Given the description of an element on the screen output the (x, y) to click on. 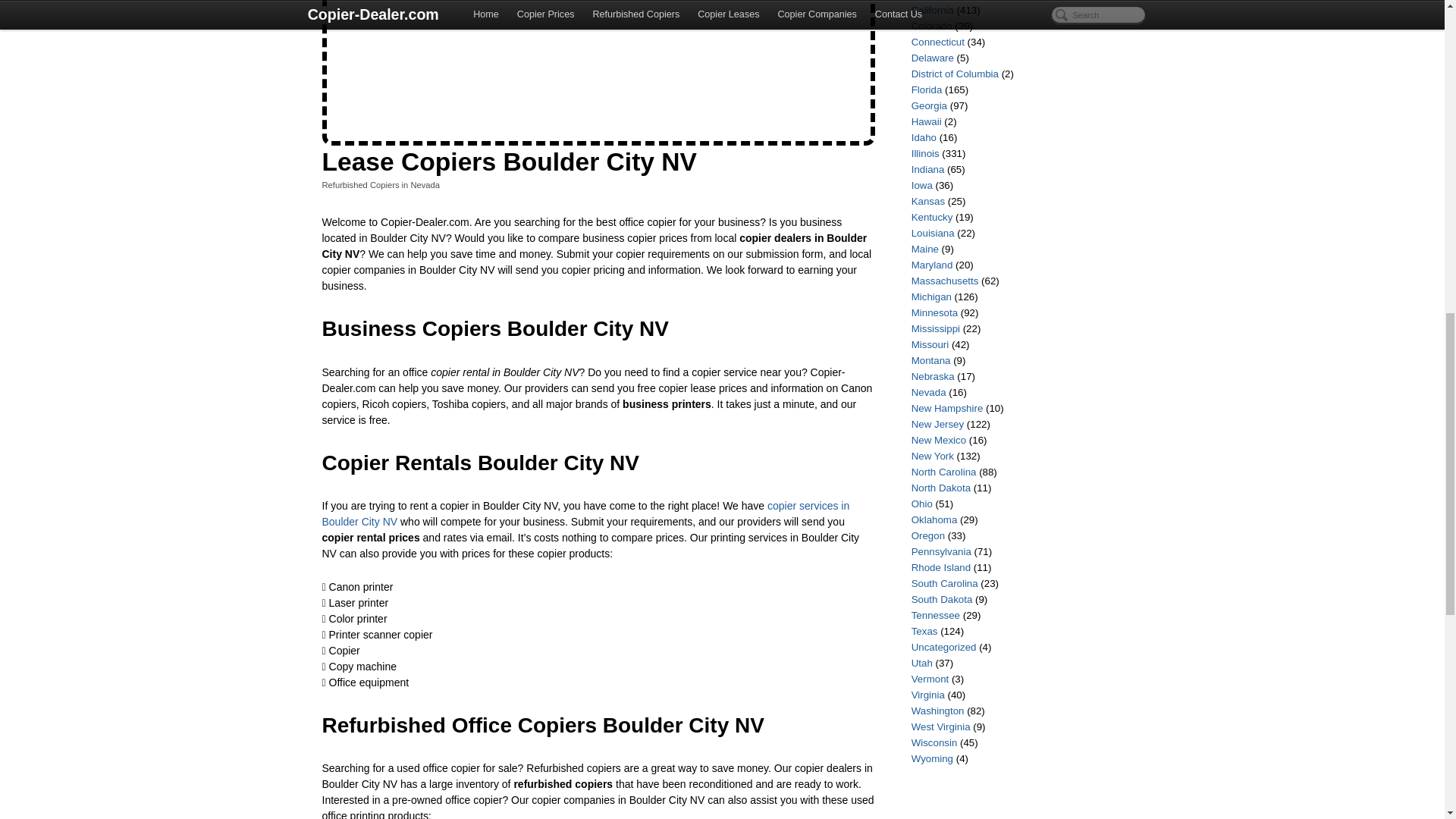
copier services in Boulder City NV (584, 513)
Embedded Wufoo Form (598, 68)
Refurbished Copiers (359, 184)
Nevada (424, 184)
